Given the description of an element on the screen output the (x, y) to click on. 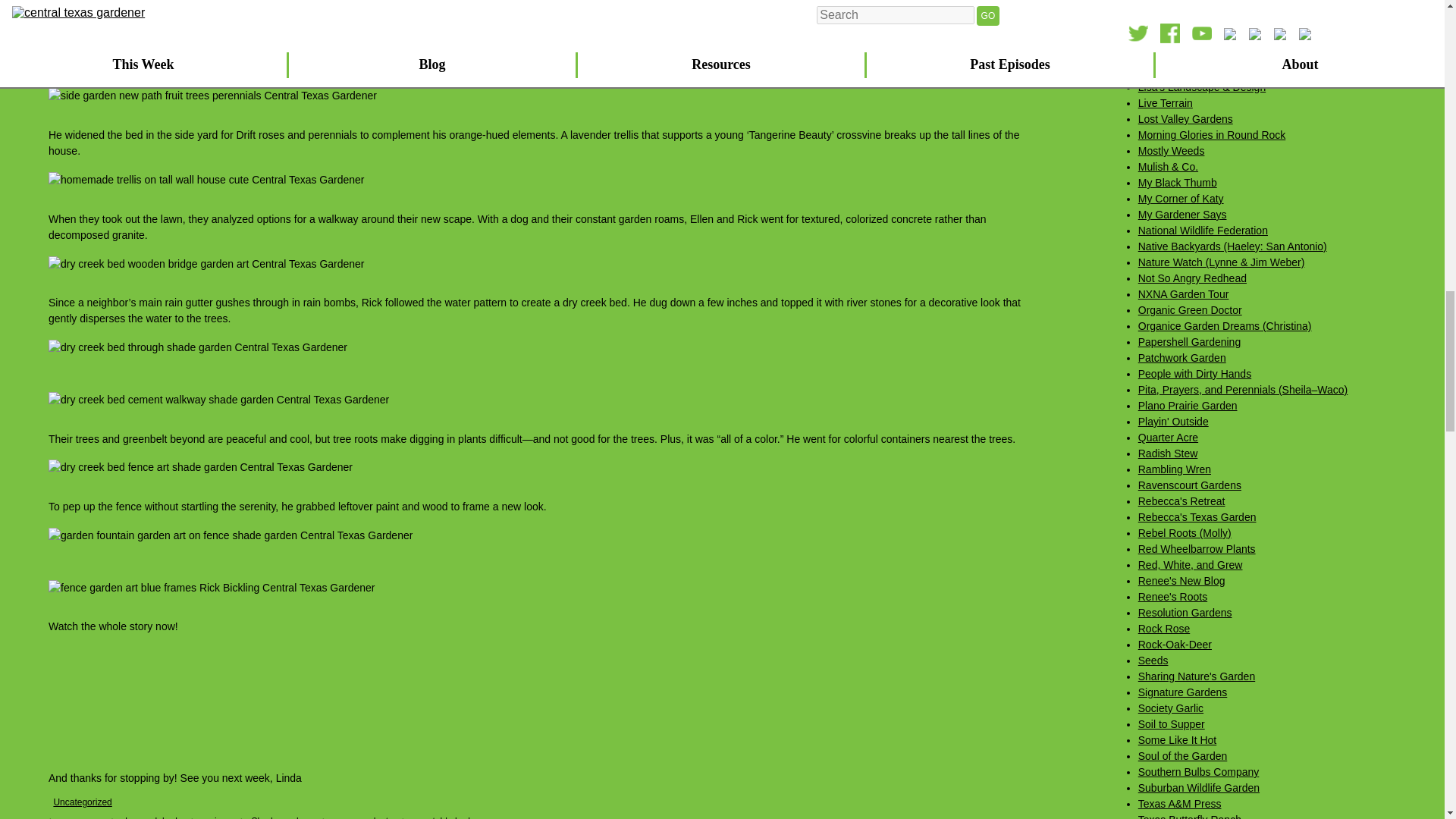
Uncategorized (82, 801)
cancer (88, 817)
dry creek beds (152, 817)
summer plants (363, 817)
vegetable beds (443, 817)
Shade gardens (282, 817)
recipes (216, 817)
